Given the description of an element on the screen output the (x, y) to click on. 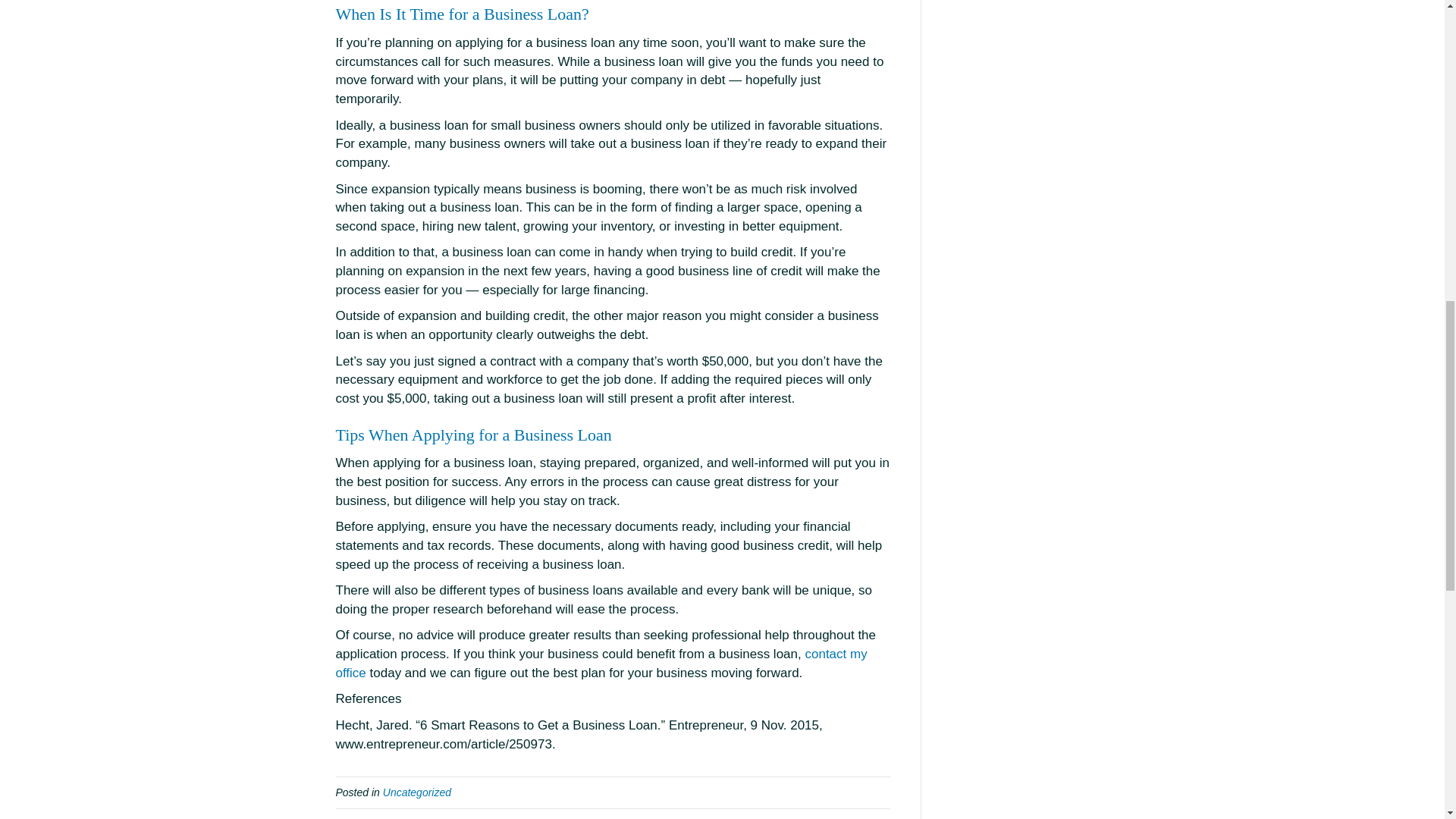
Uncategorized (416, 792)
contact my office (600, 663)
